Given the description of an element on the screen output the (x, y) to click on. 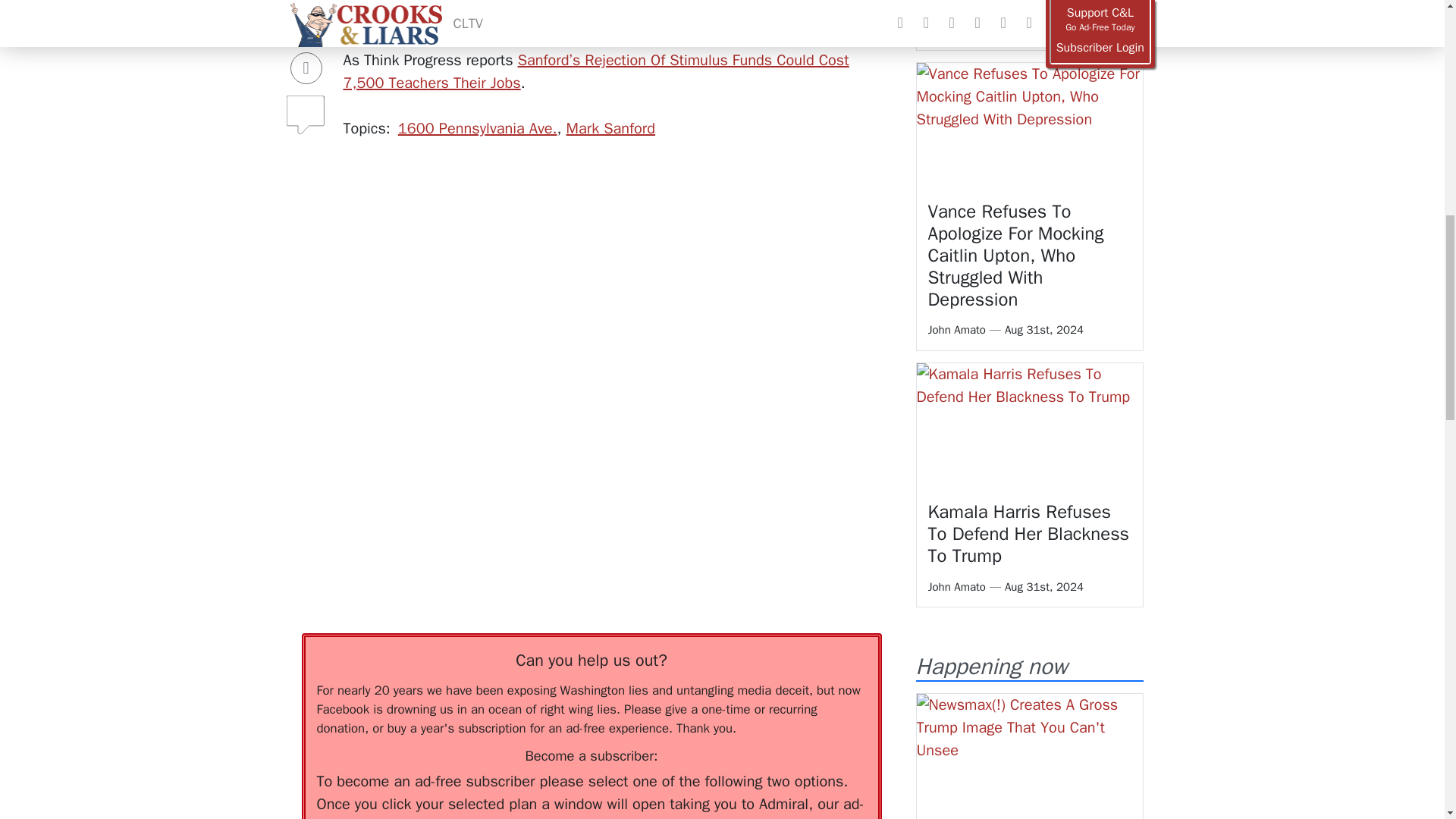
1600 Pennsylvania Ave. (477, 128)
Mark Sanford (610, 128)
